Given the description of an element on the screen output the (x, y) to click on. 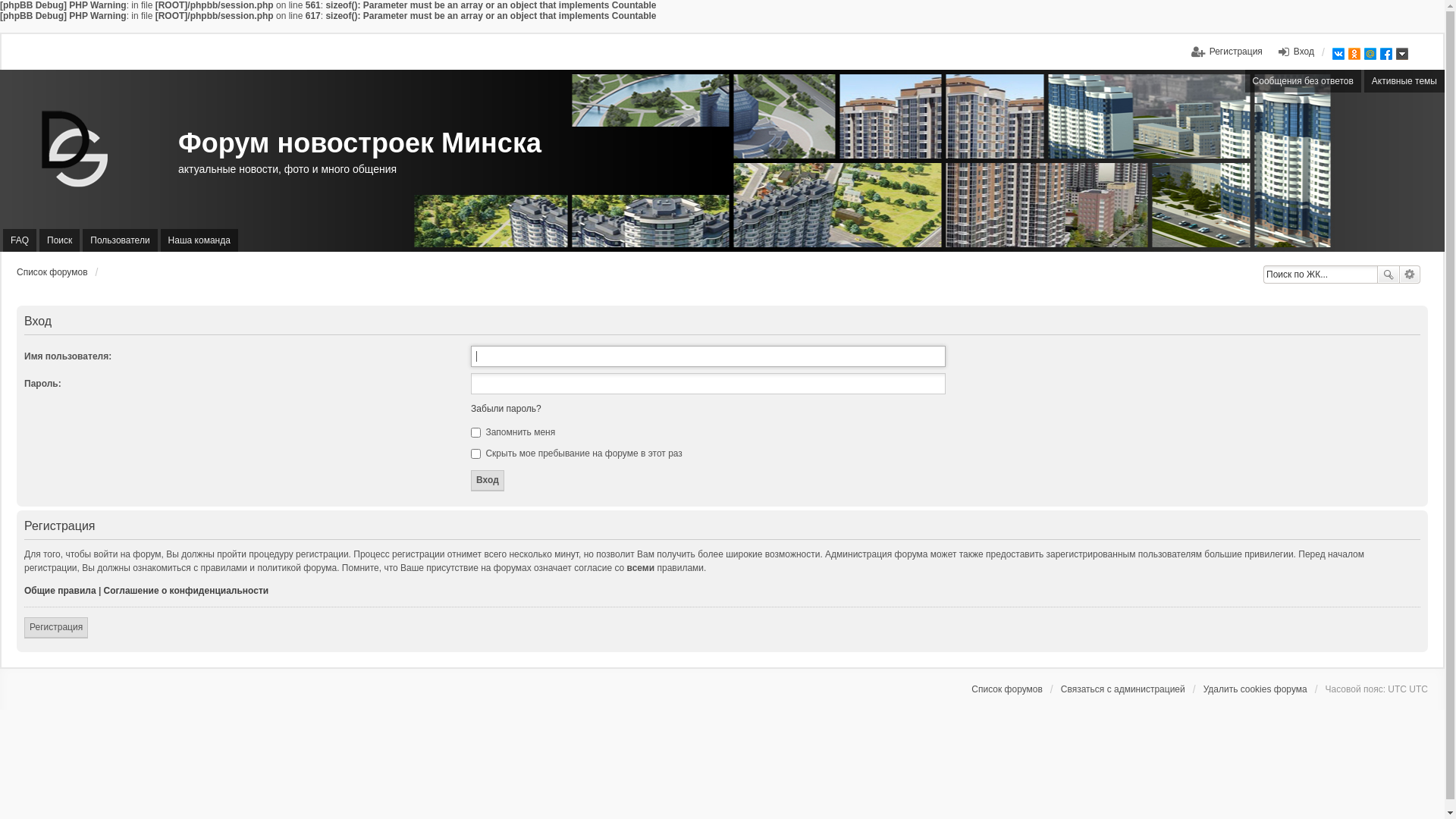
FAQ Element type: text (19, 240)
Odnoklassniki Element type: hover (1354, 53)
Facebook Element type: hover (1386, 53)
VK Element type: hover (1338, 53)
Mail.ru Element type: hover (1370, 53)
